Given the description of an element on the screen output the (x, y) to click on. 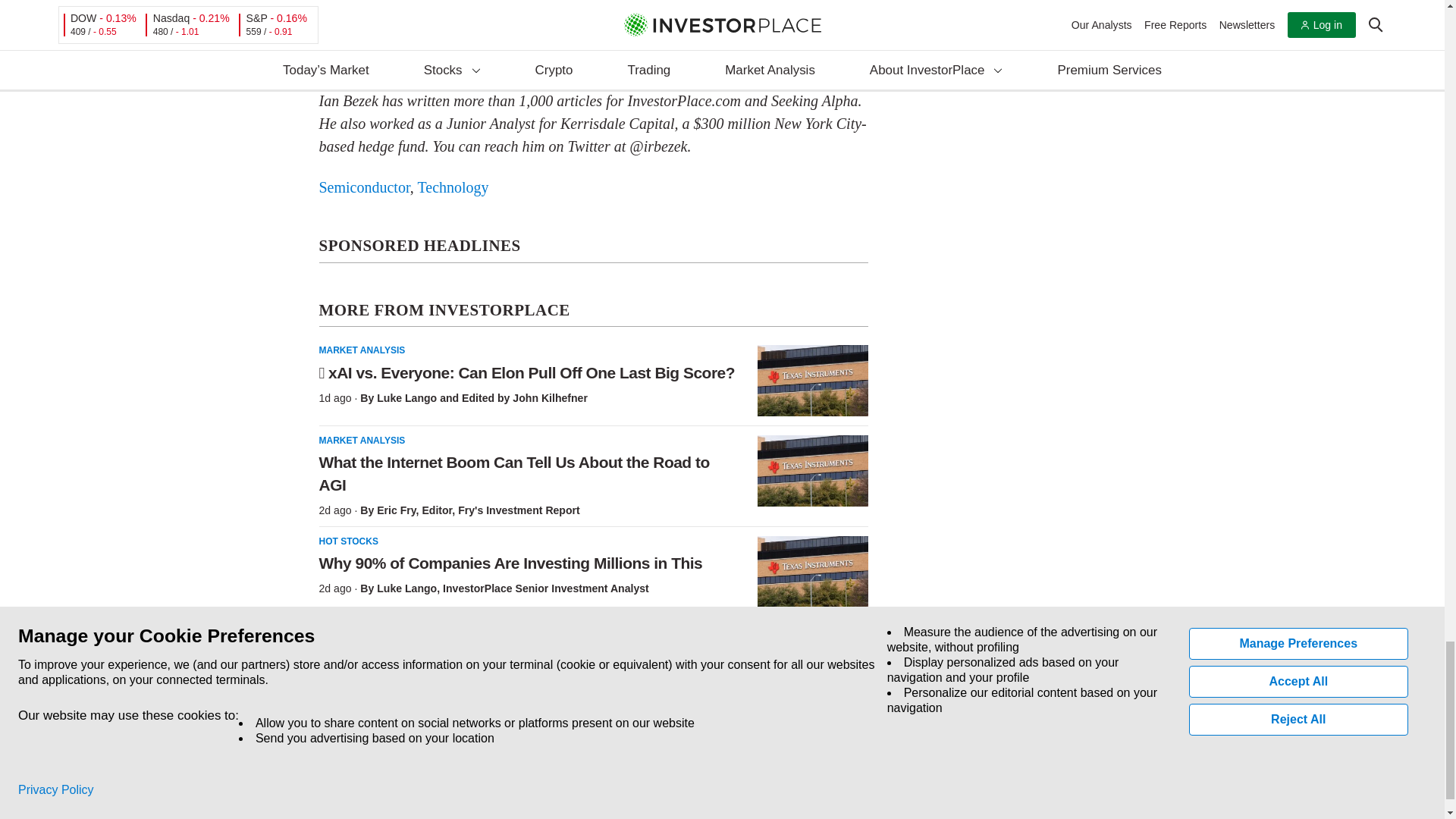
View profile of Luke Lango (406, 588)
Articles from Technology industry (451, 187)
View profile of Eric Fry (395, 510)
What the Internet Boom Can Tell Us About the Road to AGI (812, 470)
Visit our Twitter page (354, 753)
View profile of Edited by John Kilhefner (524, 398)
Articles from Semiconductor industry (363, 187)
Subscribe to our RSS feed (389, 753)
Visit our Facebook Page (319, 753)
View profile of Luke Lango (406, 398)
